Given the description of an element on the screen output the (x, y) to click on. 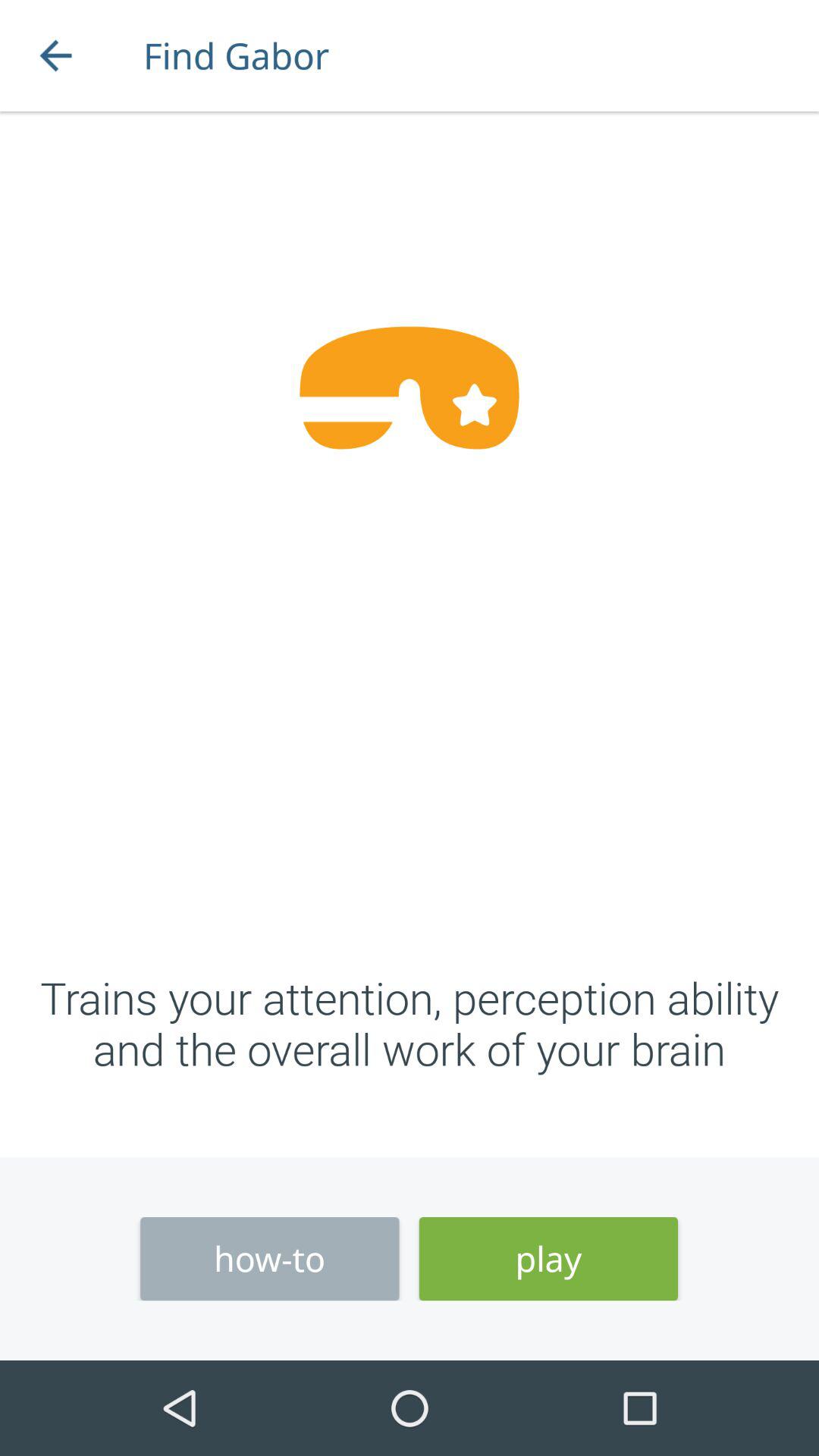
swipe to the how-to item (269, 1258)
